Given the description of an element on the screen output the (x, y) to click on. 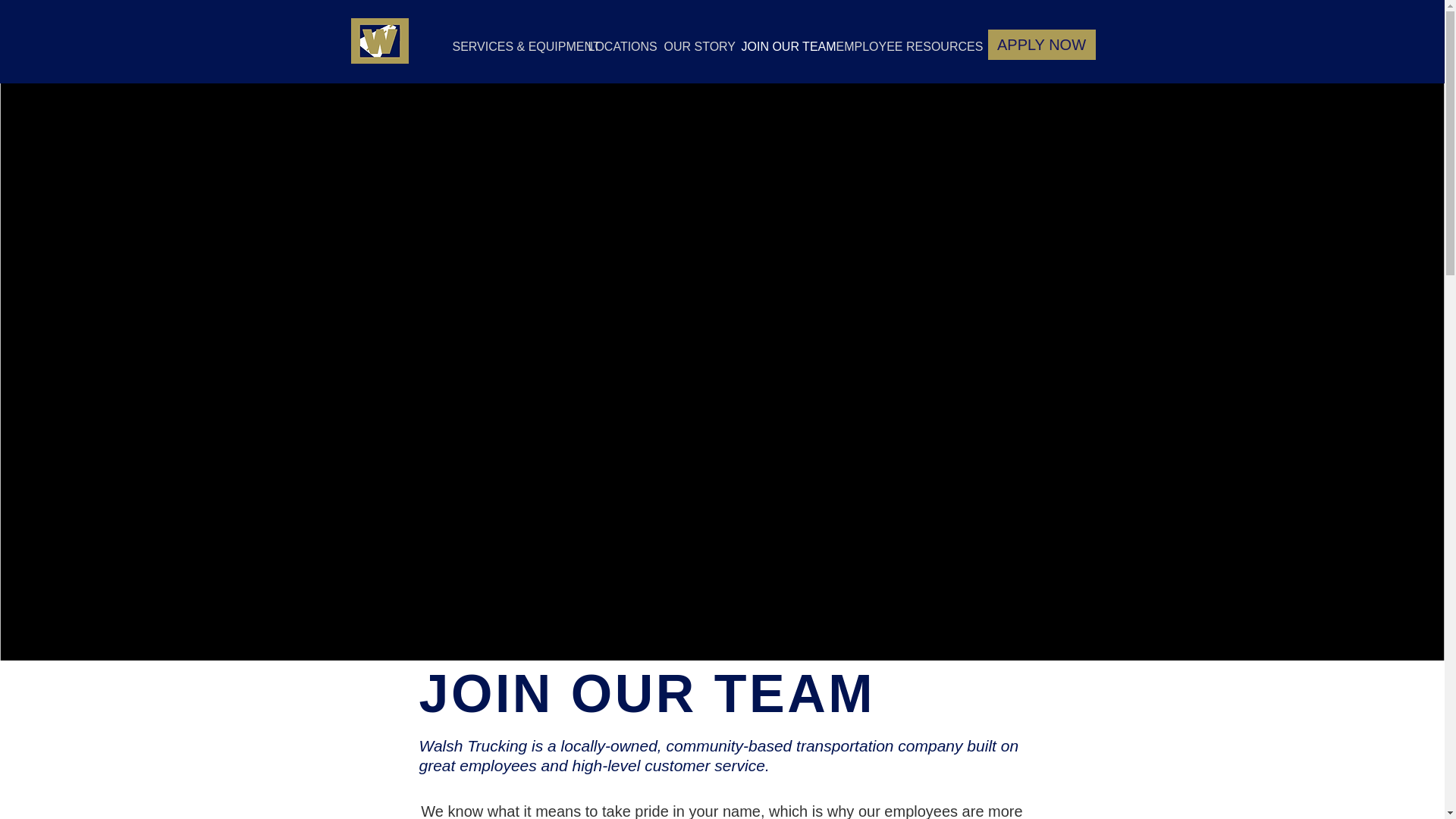
OUR STORY (690, 51)
LOCATIONS (614, 51)
JOIN OUR TEAM (776, 51)
APPLY NOW (1040, 44)
EMPLOYEE RESOURCES (890, 51)
